Given the description of an element on the screen output the (x, y) to click on. 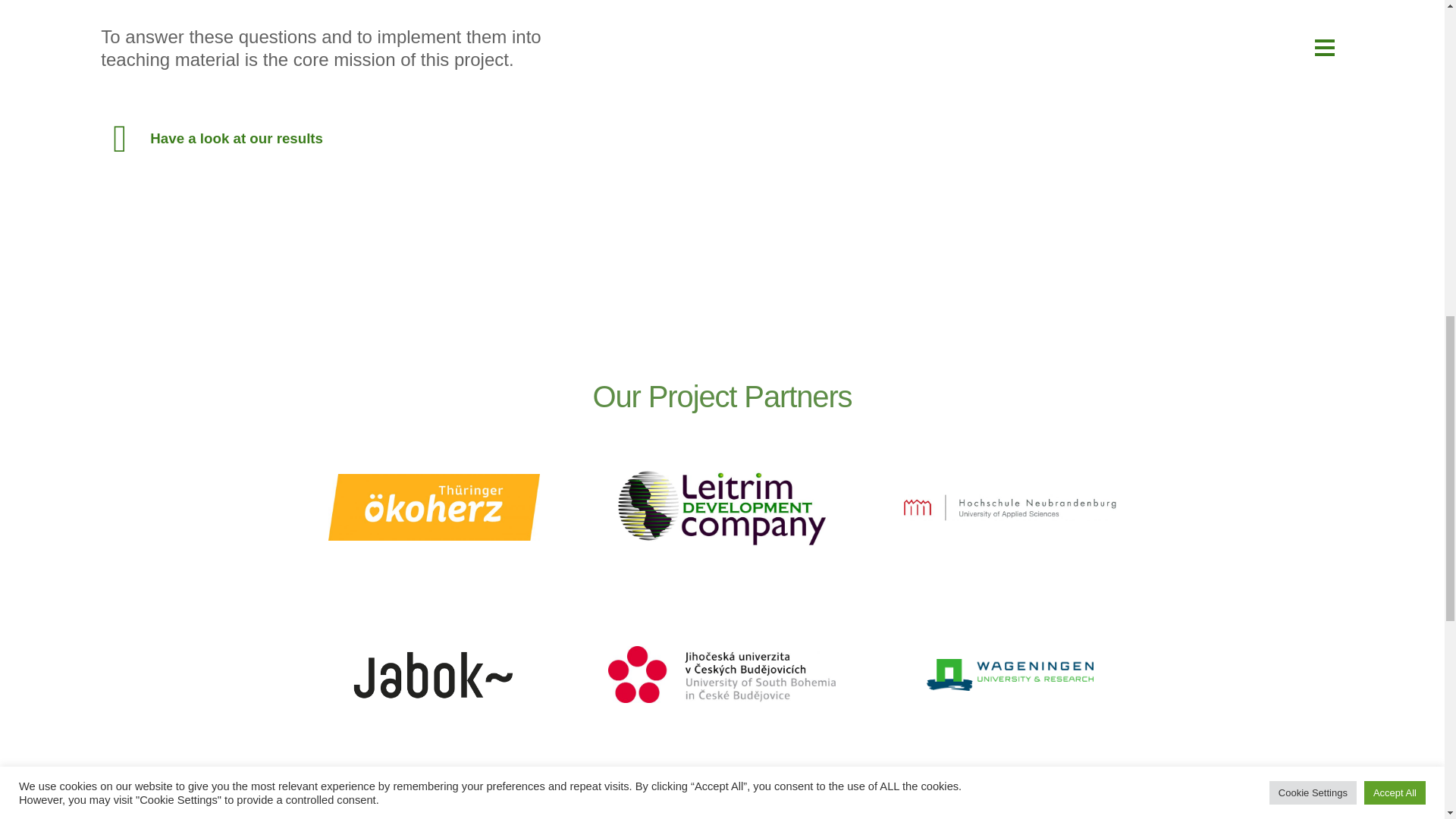
Have a look at our results (236, 138)
